Given the description of an element on the screen output the (x, y) to click on. 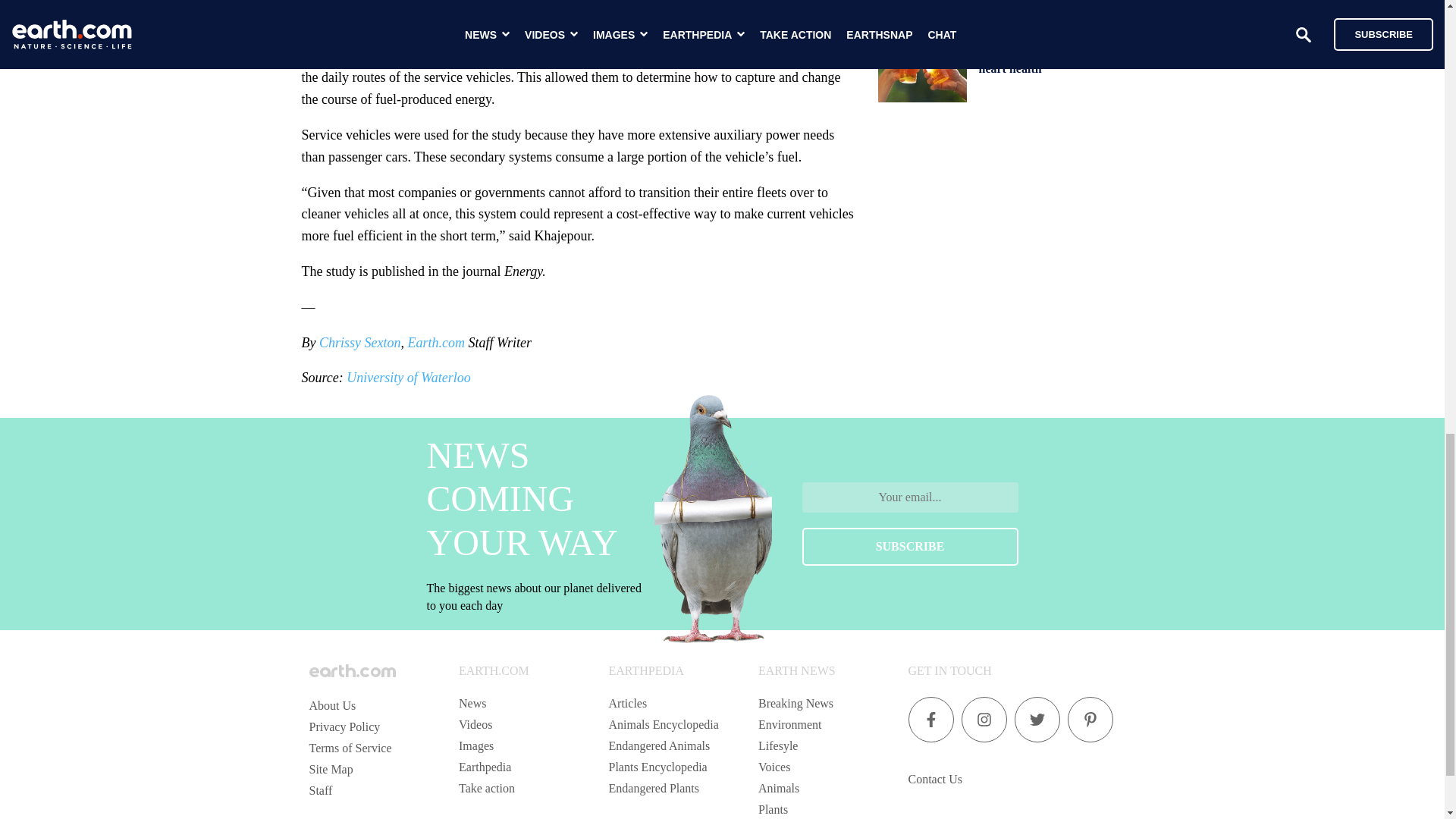
Earth.com (435, 342)
University of Waterloo (408, 377)
Chrissy Sexton (359, 342)
SUBSCRIBE (909, 546)
Alcohol has a hidden impact on heart health (1059, 61)
